Given the description of an element on the screen output the (x, y) to click on. 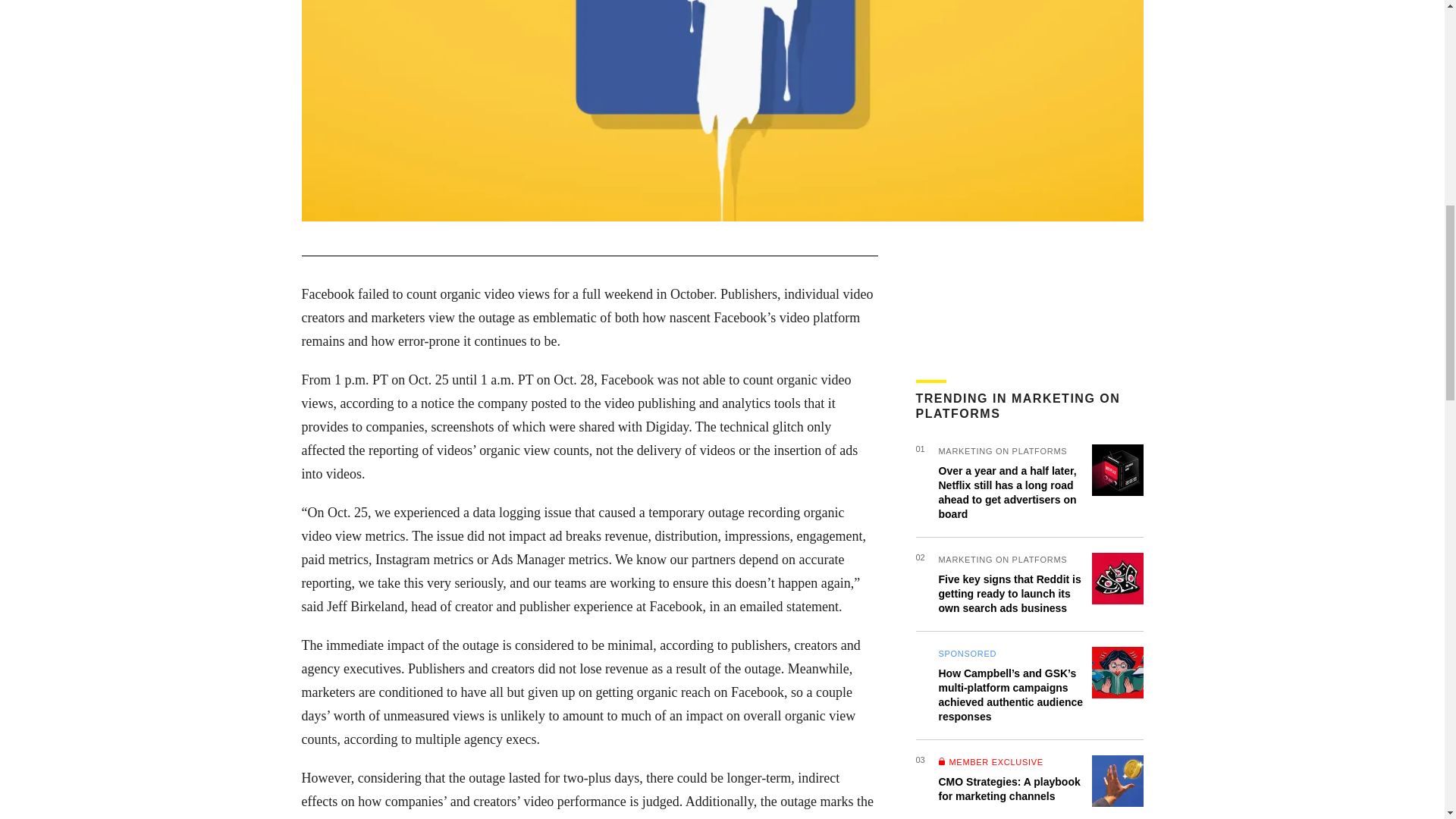
CMO Strategies: A playbook for marketing channels (1009, 788)
